Given the description of an element on the screen output the (x, y) to click on. 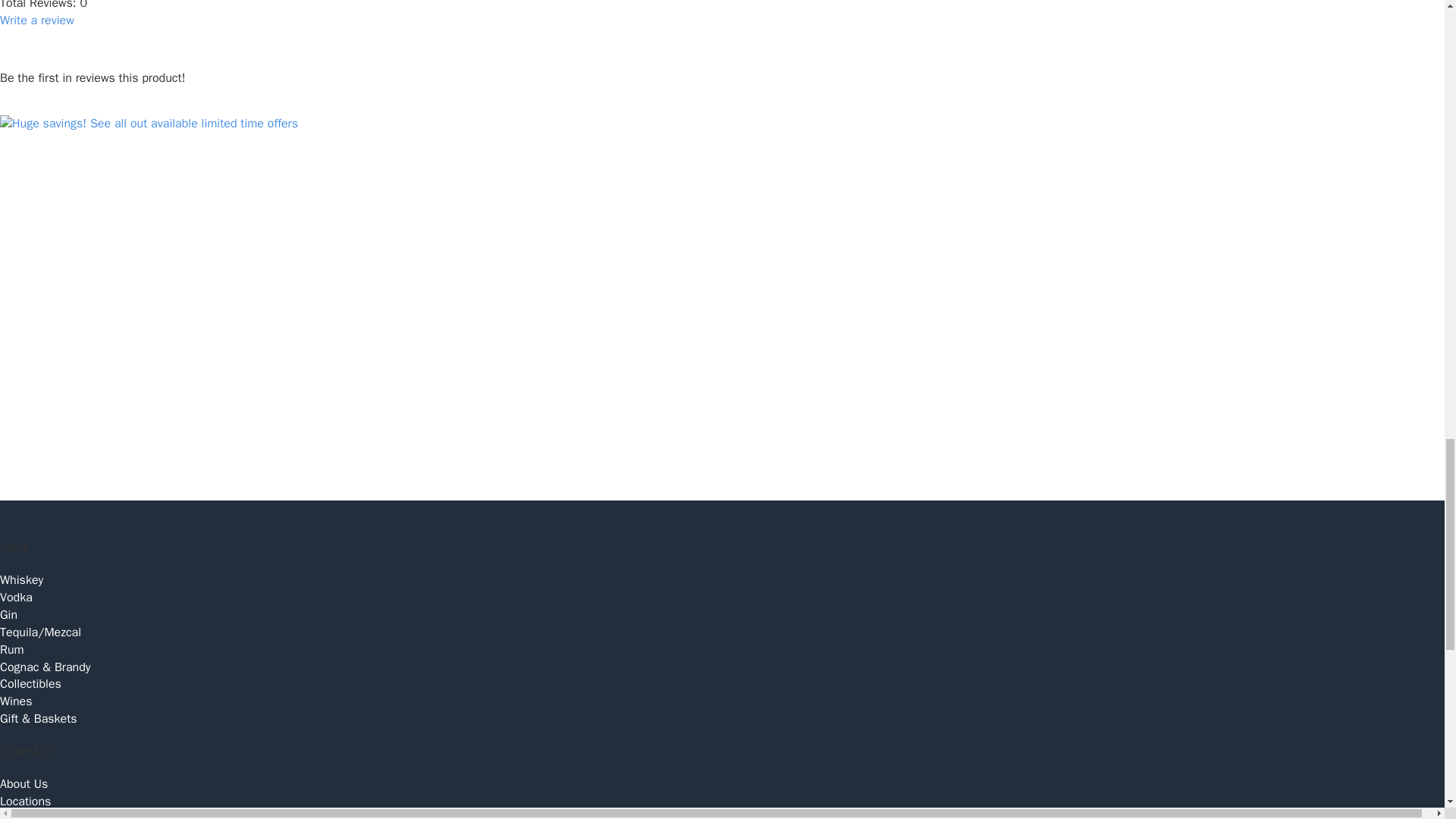
Write a review (37, 20)
About Us (722, 784)
Gin (722, 615)
Locations (722, 801)
Vodka (722, 597)
Rum (722, 650)
Collectibles (722, 683)
Wines (722, 701)
Whiskey (722, 579)
Huge savings! See all out available limited time offers (149, 123)
